Given the description of an element on the screen output the (x, y) to click on. 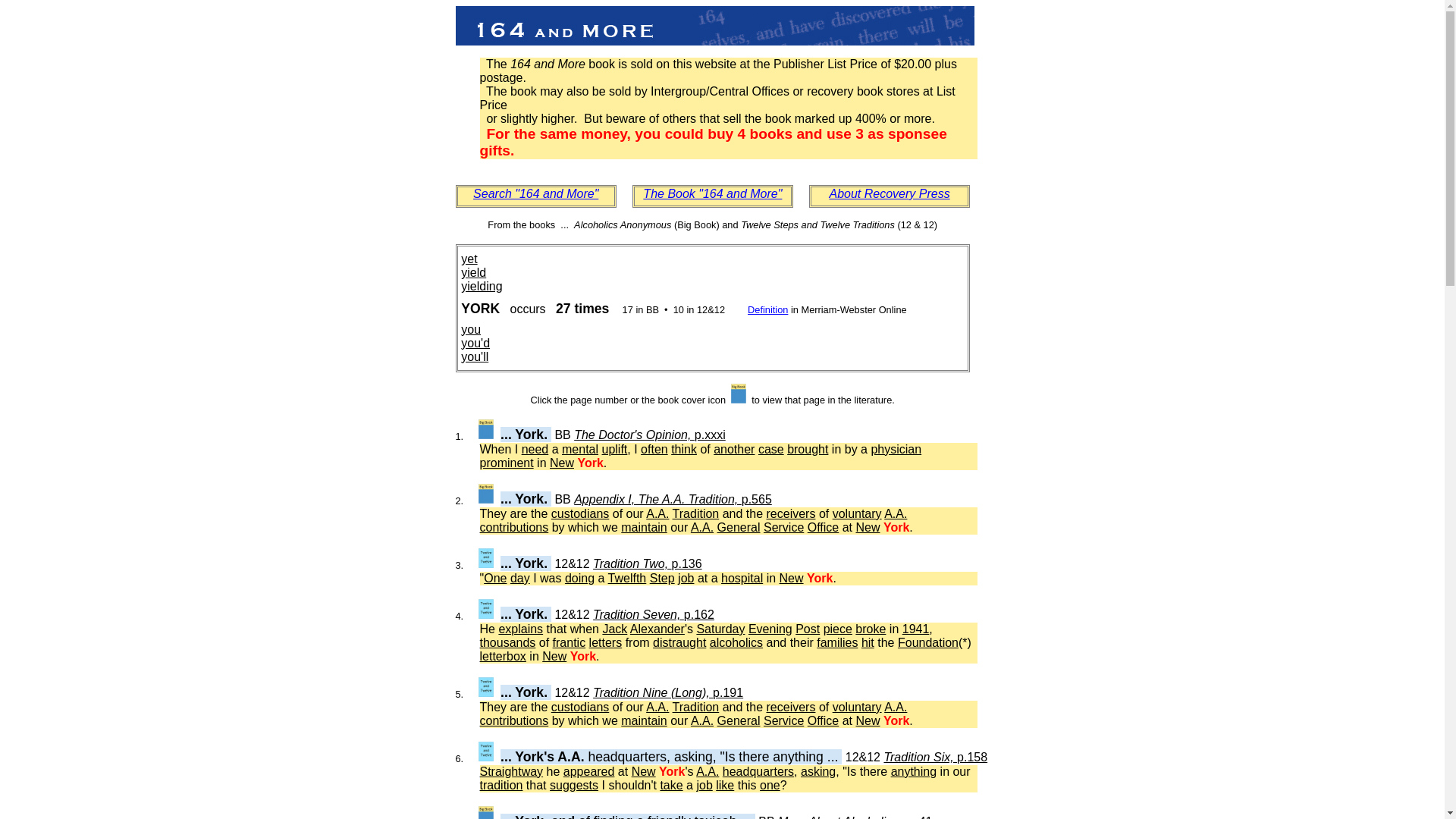
need Element type: text (535, 448)
piece Element type: text (837, 628)
Definition Element type: text (767, 309)
Appendix I, The A.A. Tradition, p.565 Element type: text (672, 498)
contributions Element type: text (513, 526)
About Recovery Press Element type: text (888, 193)
custodians Element type: text (580, 706)
letters Element type: text (605, 642)
A.A. Element type: text (657, 513)
Step Element type: text (661, 577)
View 12&12 p.191 Element type: hover (485, 686)
anything Element type: text (914, 771)
Office Element type: text (823, 720)
job Element type: text (685, 577)
View 12&12 p.162 Element type: hover (485, 608)
voluntary Element type: text (856, 513)
Post Element type: text (807, 628)
voluntary Element type: text (856, 706)
tradition Element type: text (500, 784)
yet Element type: text (468, 258)
you'll Element type: text (474, 356)
day Element type: text (520, 577)
maintain Element type: text (643, 526)
1941 Element type: text (915, 628)
mental Element type: text (579, 448)
View BB p.xxxi Element type: hover (485, 429)
View 12&12 p.158 Element type: hover (485, 751)
The Doctor's Opinion, p.xxxi Element type: text (649, 434)
Twelfth Element type: text (627, 577)
custodians Element type: text (580, 513)
frantic Element type: text (569, 642)
hit Element type: text (867, 642)
suggests Element type: text (573, 784)
Search "164 and More" Element type: text (535, 193)
families Element type: text (836, 642)
brought Element type: text (807, 448)
A.A. Element type: text (657, 706)
one Element type: text (769, 784)
New Element type: text (867, 526)
A.A. Element type: text (895, 706)
Evening Element type: text (770, 628)
take Element type: text (670, 784)
New Element type: text (791, 577)
headquarters Element type: text (757, 771)
prominent Element type: text (506, 462)
Straightway Element type: text (510, 771)
yield Element type: text (473, 272)
uplift Element type: text (614, 448)
Alexander Element type: text (657, 628)
hospital Element type: text (741, 577)
asking Element type: text (817, 771)
A.A. Element type: text (701, 526)
physician Element type: text (895, 448)
you Element type: text (470, 329)
contributions Element type: text (513, 720)
often Element type: text (654, 448)
Saturday Element type: text (720, 628)
Jack Element type: text (614, 628)
doing Element type: text (579, 577)
Tradition Element type: text (695, 513)
One Element type: text (494, 577)
letterbox Element type: text (502, 655)
maintain Element type: text (643, 720)
A.A. Element type: text (701, 720)
job Element type: text (704, 784)
New Element type: text (867, 720)
distraught Element type: text (679, 642)
receivers Element type: text (790, 513)
explains Element type: text (520, 628)
New Element type: text (561, 462)
alcoholics Element type: text (735, 642)
Tradition Two, p.136 Element type: text (647, 563)
thousands Element type: text (507, 642)
think Element type: text (683, 448)
Service Element type: text (783, 720)
yielding Element type: text (481, 285)
New Element type: text (643, 771)
like Element type: text (724, 784)
View BB p.565 Element type: hover (485, 493)
A.A. Element type: text (895, 513)
A.A. Element type: text (707, 771)
General Element type: text (738, 526)
appeared Element type: text (589, 771)
New Element type: text (554, 655)
broke Element type: text (870, 628)
Office Element type: text (823, 526)
case Element type: text (771, 448)
Tradition Nine (Long), p.191 Element type: text (668, 692)
Tradition Six, p.158 Element type: text (935, 756)
Tradition Seven, p.162 Element type: text (653, 614)
Tradition Element type: text (695, 706)
Service Element type: text (783, 526)
another Element type: text (733, 448)
receivers Element type: text (790, 706)
Foundation Element type: text (927, 642)
General Element type: text (738, 720)
The Book "164 and More" Element type: text (712, 193)
View 12&12 p.136 Element type: hover (485, 557)
you'd Element type: text (475, 342)
